Given the description of an element on the screen output the (x, y) to click on. 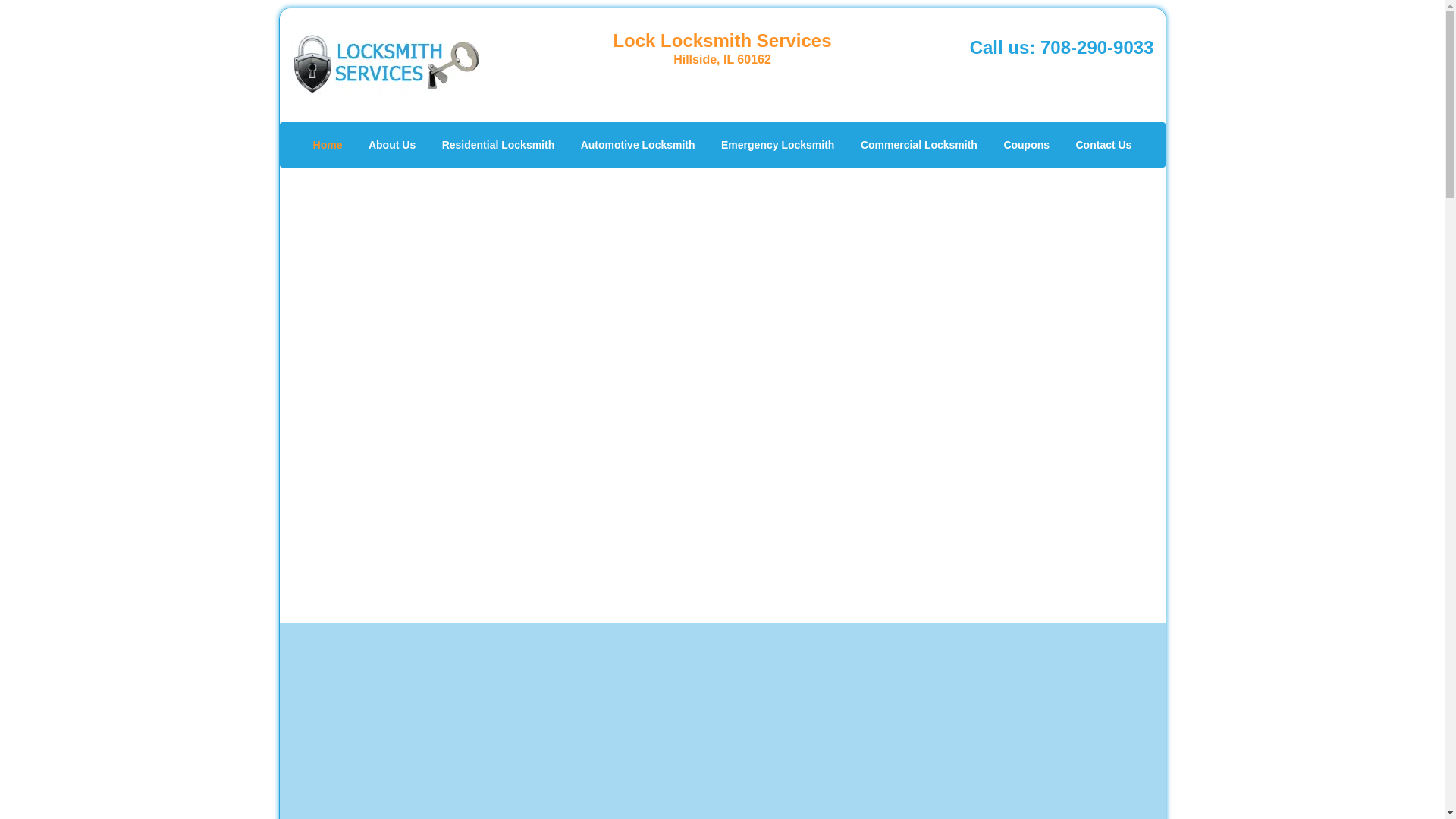
Contact Us (1103, 144)
Home (327, 144)
Residential Locksmith (498, 144)
Coupons (1026, 144)
708-290-9033 (1097, 46)
Commercial Locksmith (918, 144)
Automotive Locksmith (637, 144)
About Us (391, 144)
Emergency Locksmith (777, 144)
